Given the description of an element on the screen output the (x, y) to click on. 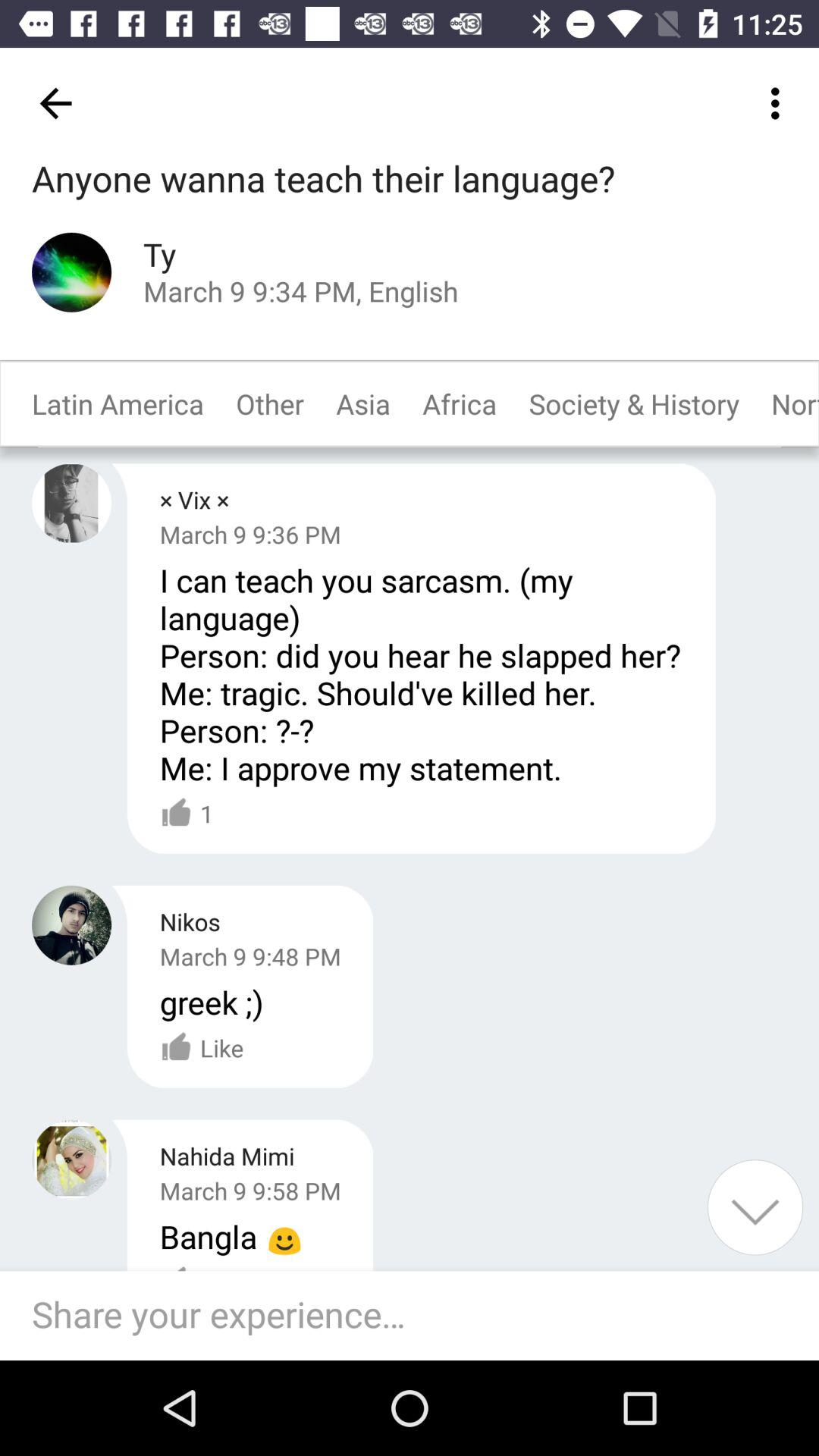
profile photo icon (71, 925)
